Given the description of an element on the screen output the (x, y) to click on. 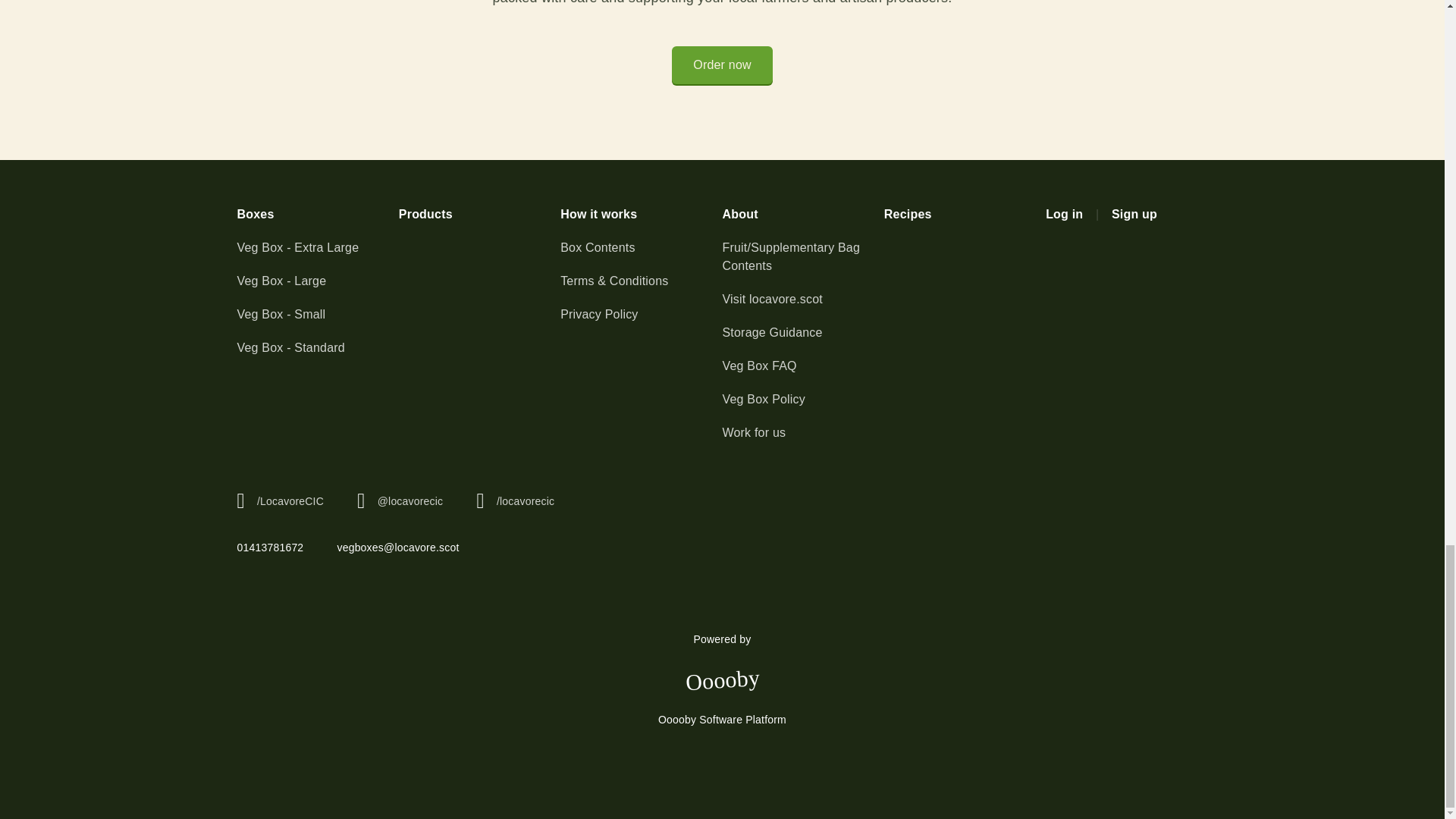
Box Contents (641, 248)
Veg Box - Small (316, 314)
Veg Box - Extra Large (316, 248)
Veg Box - Large (316, 280)
Boxes (316, 214)
About (802, 214)
How it works (641, 214)
Privacy Policy (641, 314)
Veg Box - Standard (316, 348)
Order now (722, 64)
Products (479, 214)
